Given the description of an element on the screen output the (x, y) to click on. 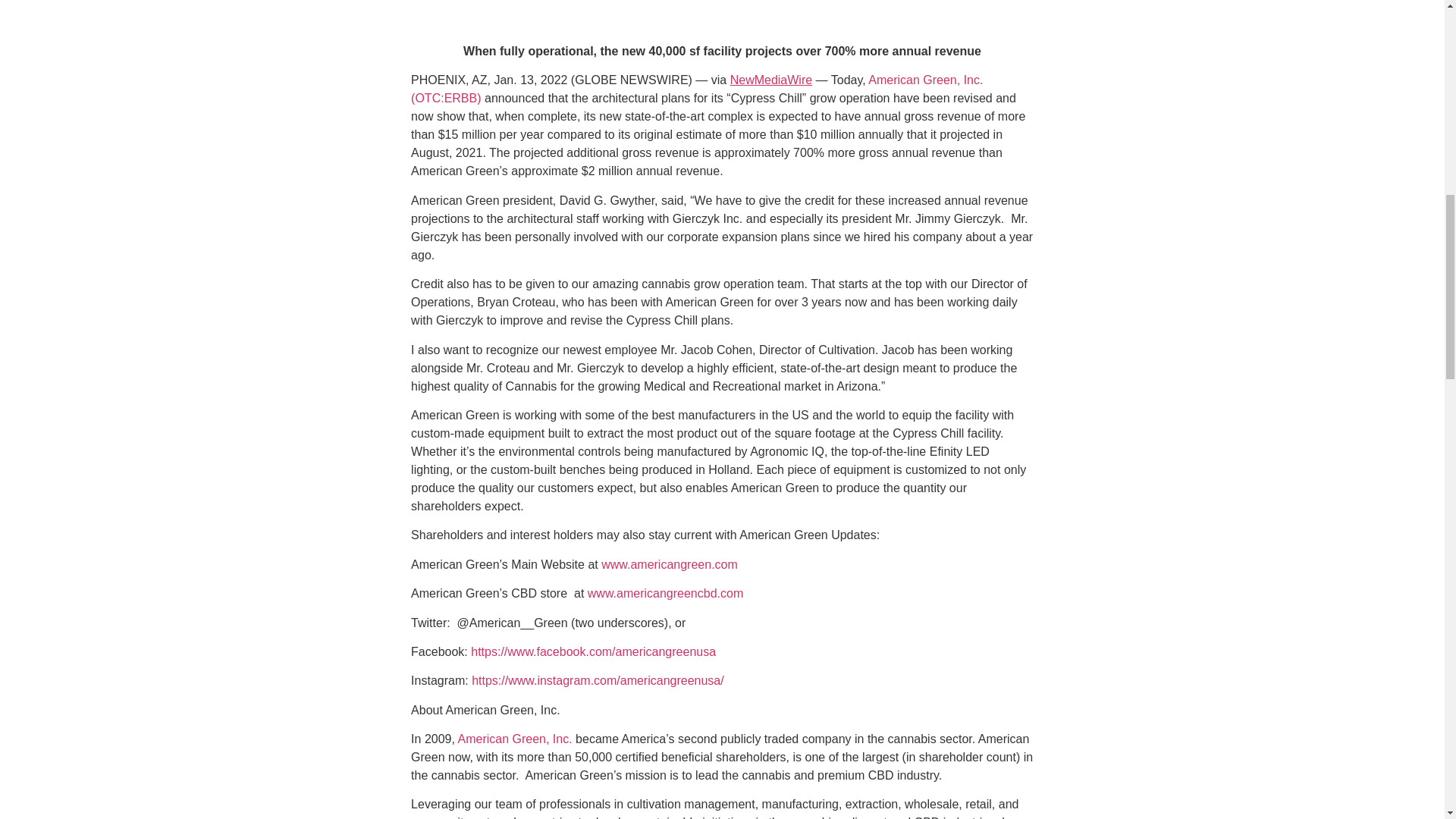
NewMediaWire (771, 79)
www.americangreencbd.com (665, 593)
www.americangreen.com (669, 563)
American Green, Inc. (514, 738)
